Given the description of an element on the screen output the (x, y) to click on. 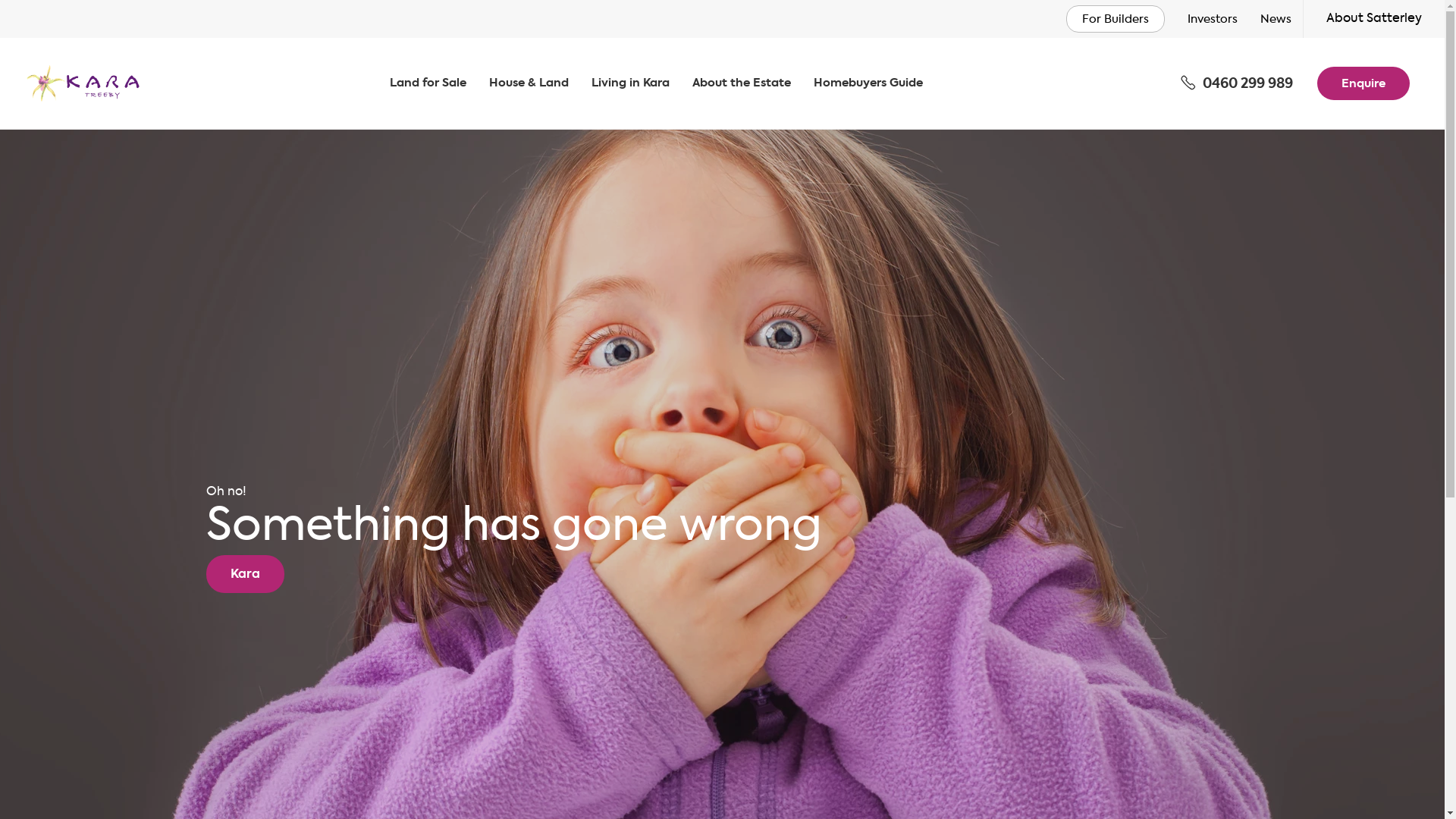
Enquire Element type: text (1363, 83)
House & Land Element type: text (528, 82)
News Element type: text (1275, 19)
About the Estate Element type: text (741, 82)
Investors Element type: text (1212, 19)
About Satterley Element type: text (1373, 18)
For Builders Element type: text (1115, 18)
0460 299 989 Element type: text (1236, 83)
Land for Sale Element type: text (427, 82)
Homebuyers Guide Element type: text (867, 82)
Kara Element type: text (245, 574)
Living in Kara Element type: text (630, 82)
